Given the description of an element on the screen output the (x, y) to click on. 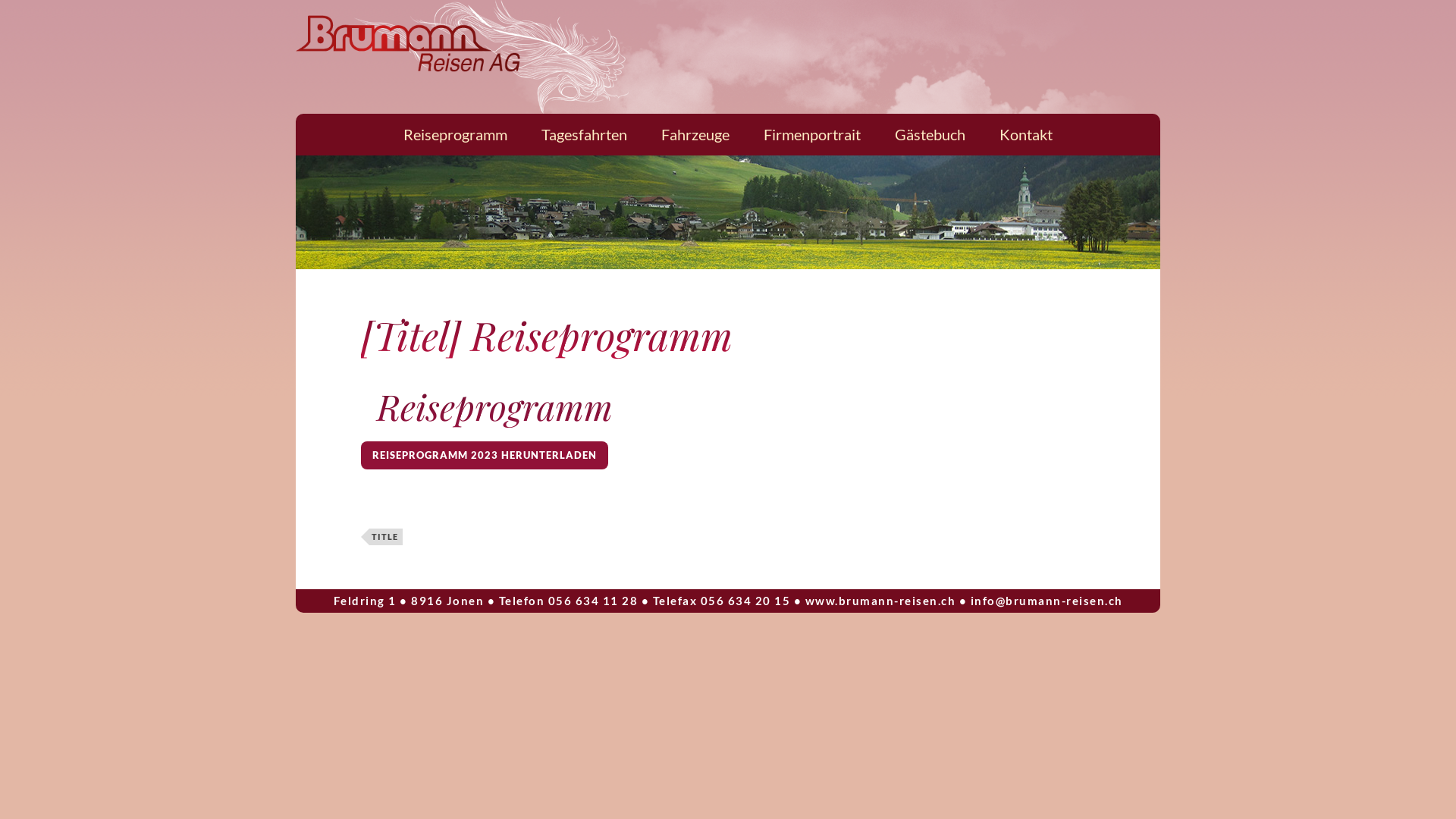
Kontakt Element type: text (1025, 134)
info@brumann-reisen.ch Element type: text (1046, 600)
Reiseprogramm Element type: text (454, 134)
TITLE Element type: text (384, 536)
Fahrzeuge Element type: text (695, 134)
Tagesfahrten Element type: text (583, 134)
[Titel] Reiseprogramm Element type: text (546, 334)
Firmenportrait Element type: text (812, 134)
